Given the description of an element on the screen output the (x, y) to click on. 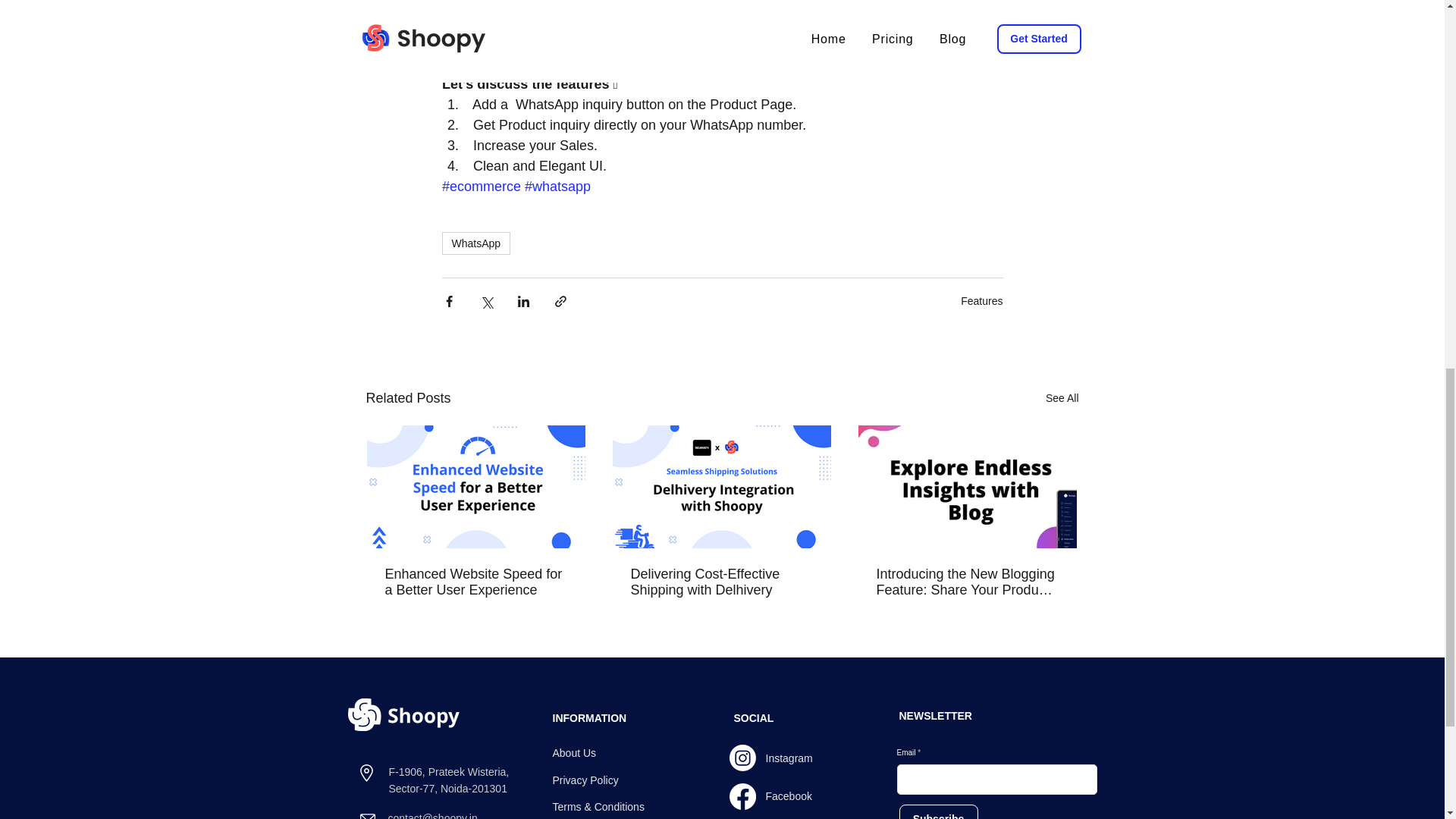
About Us (573, 752)
Privacy Policy (584, 779)
Features (981, 300)
Enhanced Website Speed for a Better User Experience (476, 582)
spylogo.png (402, 714)
Instagram (788, 758)
WhatsApp (476, 242)
Facebook (788, 796)
WhatsApp (779, 43)
See All (1061, 398)
